Given the description of an element on the screen output the (x, y) to click on. 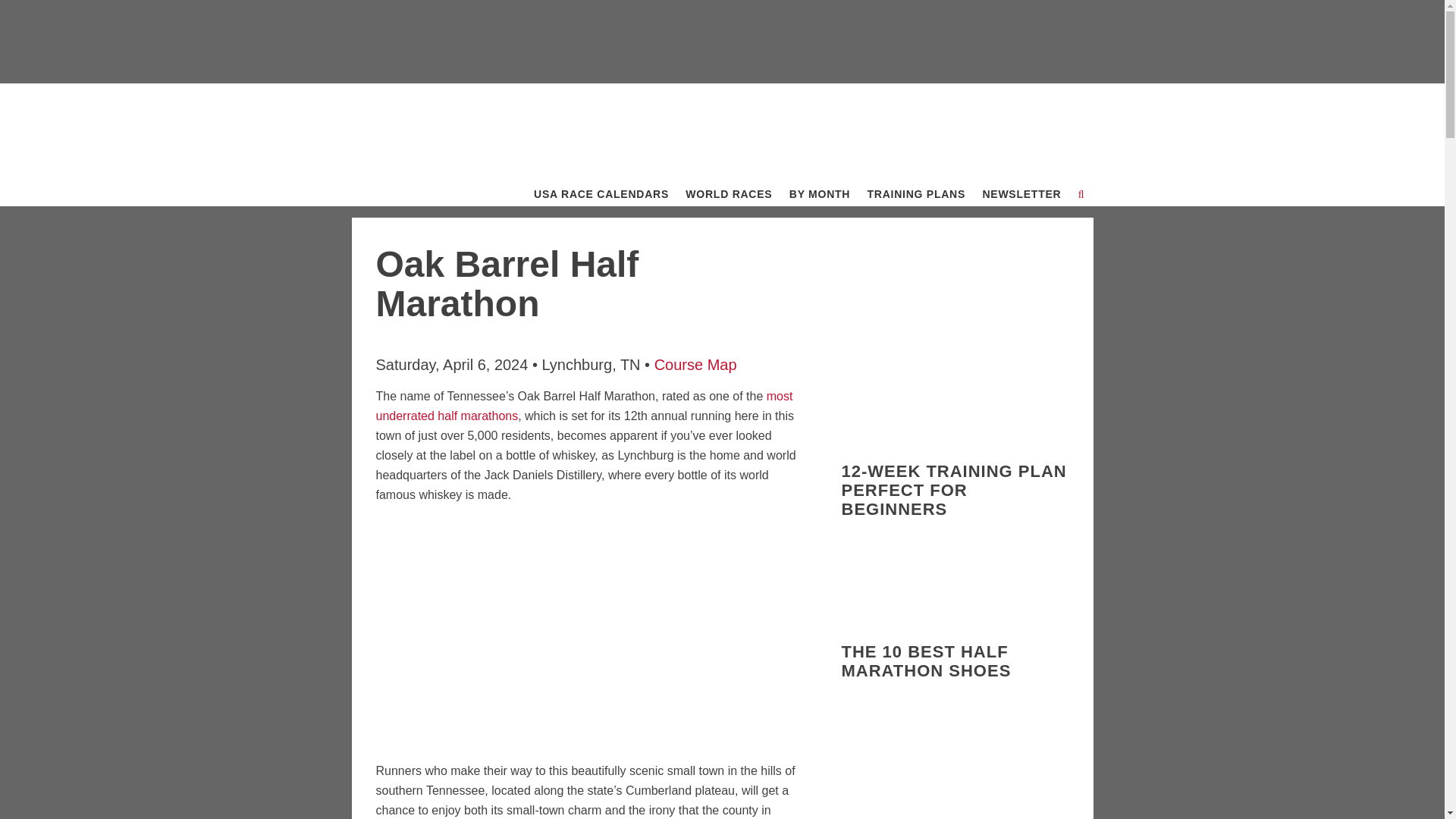
NEWSLETTER (1021, 194)
HalfMarathons.Net (438, 117)
13 Scenic Southwest Half Marathons (954, 570)
TRAINING PLANS (916, 194)
USA RACE CALENDARS (601, 194)
BY MONTH (819, 194)
WORLD RACES (728, 194)
